Given the description of an element on the screen output the (x, y) to click on. 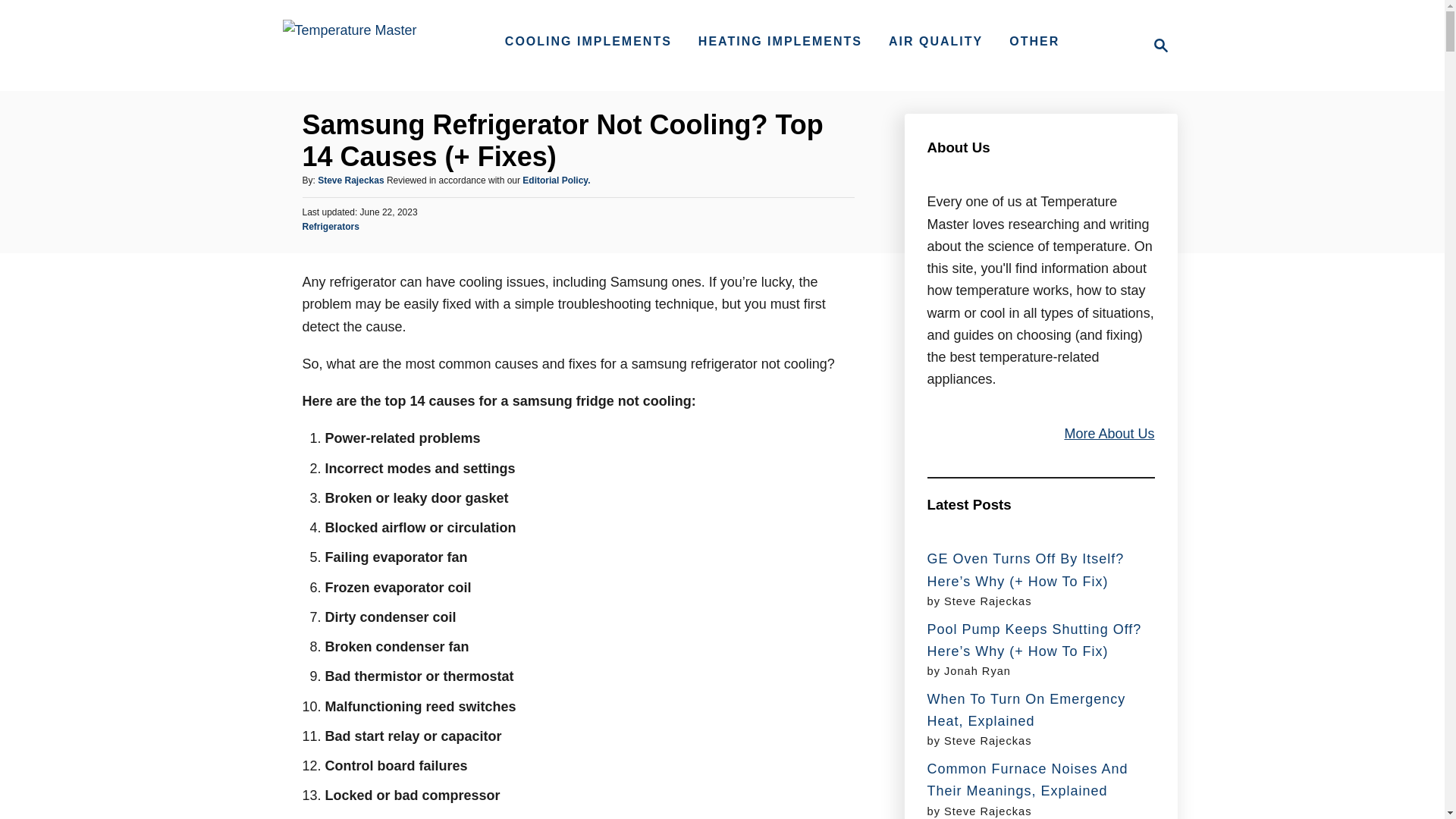
AIR QUALITY (935, 41)
Steve Rajeckas (350, 180)
Temperature Master (349, 45)
Refrigerators (1155, 45)
OTHER (329, 226)
Magnifying Glass (1034, 41)
COOLING IMPLEMENTS (1160, 45)
Editorial Policy. (588, 41)
HEATING IMPLEMENTS (555, 180)
